Given the description of an element on the screen output the (x, y) to click on. 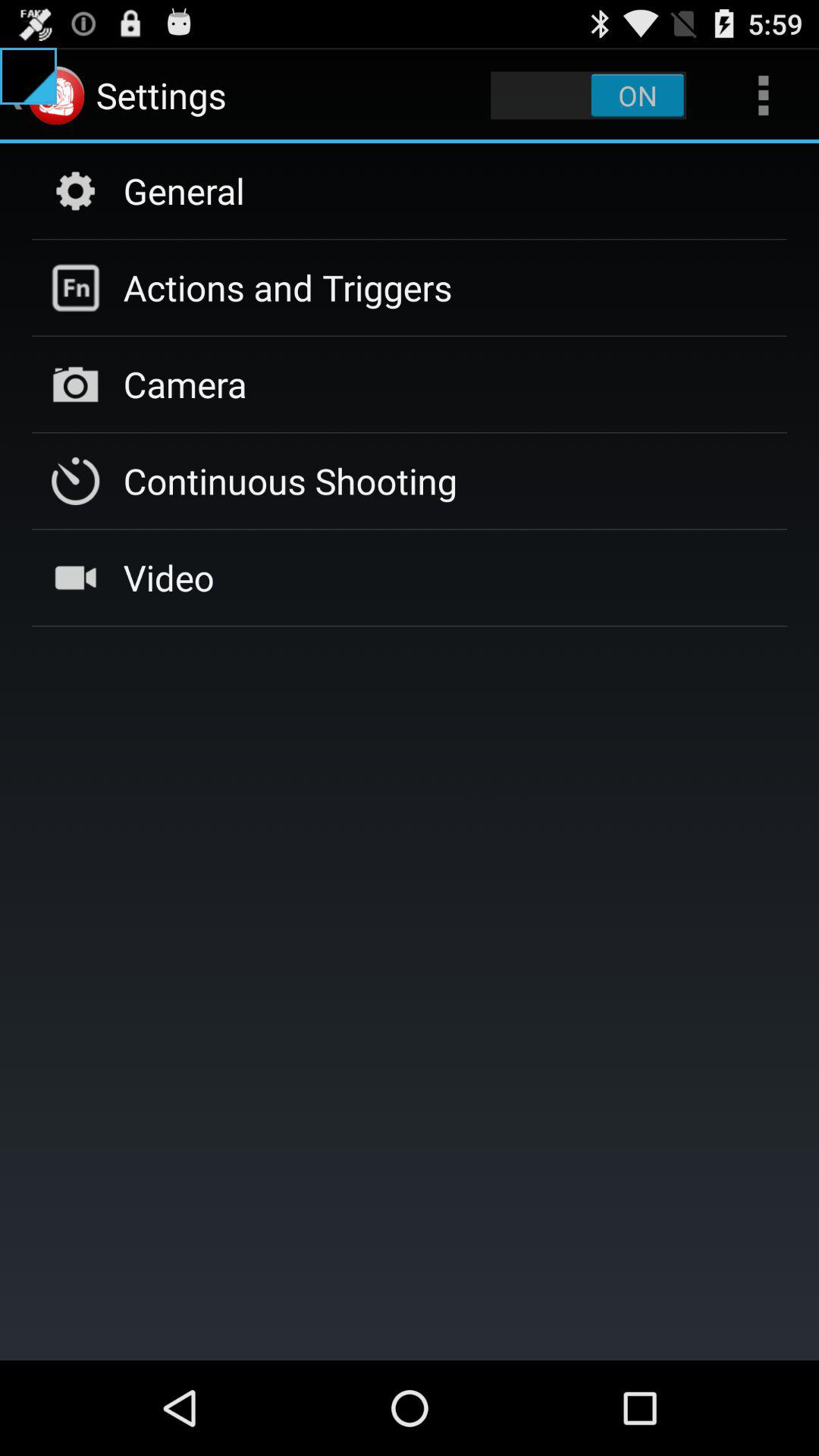
swipe until the actions and triggers icon (287, 287)
